Given the description of an element on the screen output the (x, y) to click on. 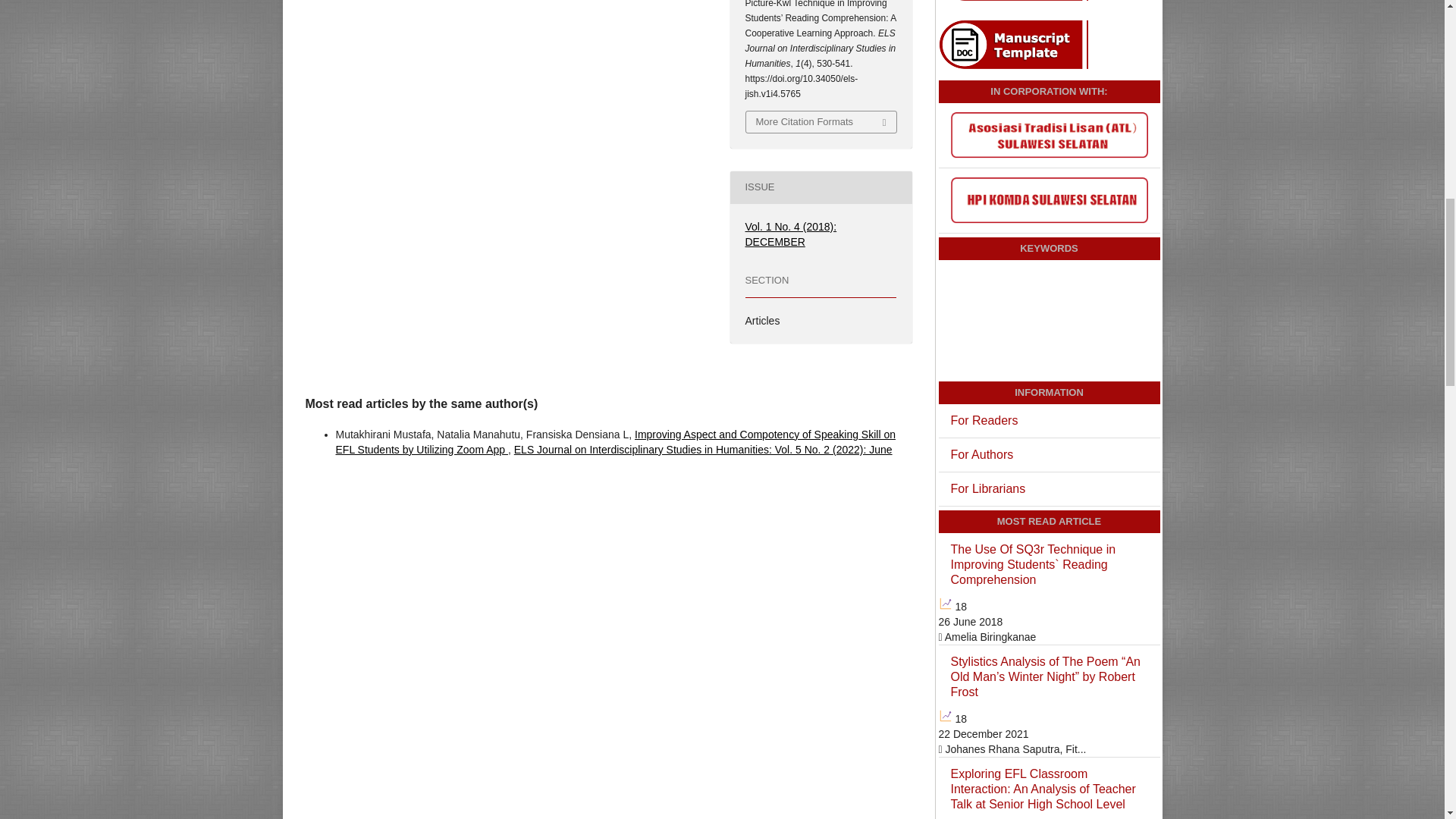
Author Guidelines (1017, 2)
Manuscript Template (1017, 66)
More Citation Formats (820, 121)
